Given the description of an element on the screen output the (x, y) to click on. 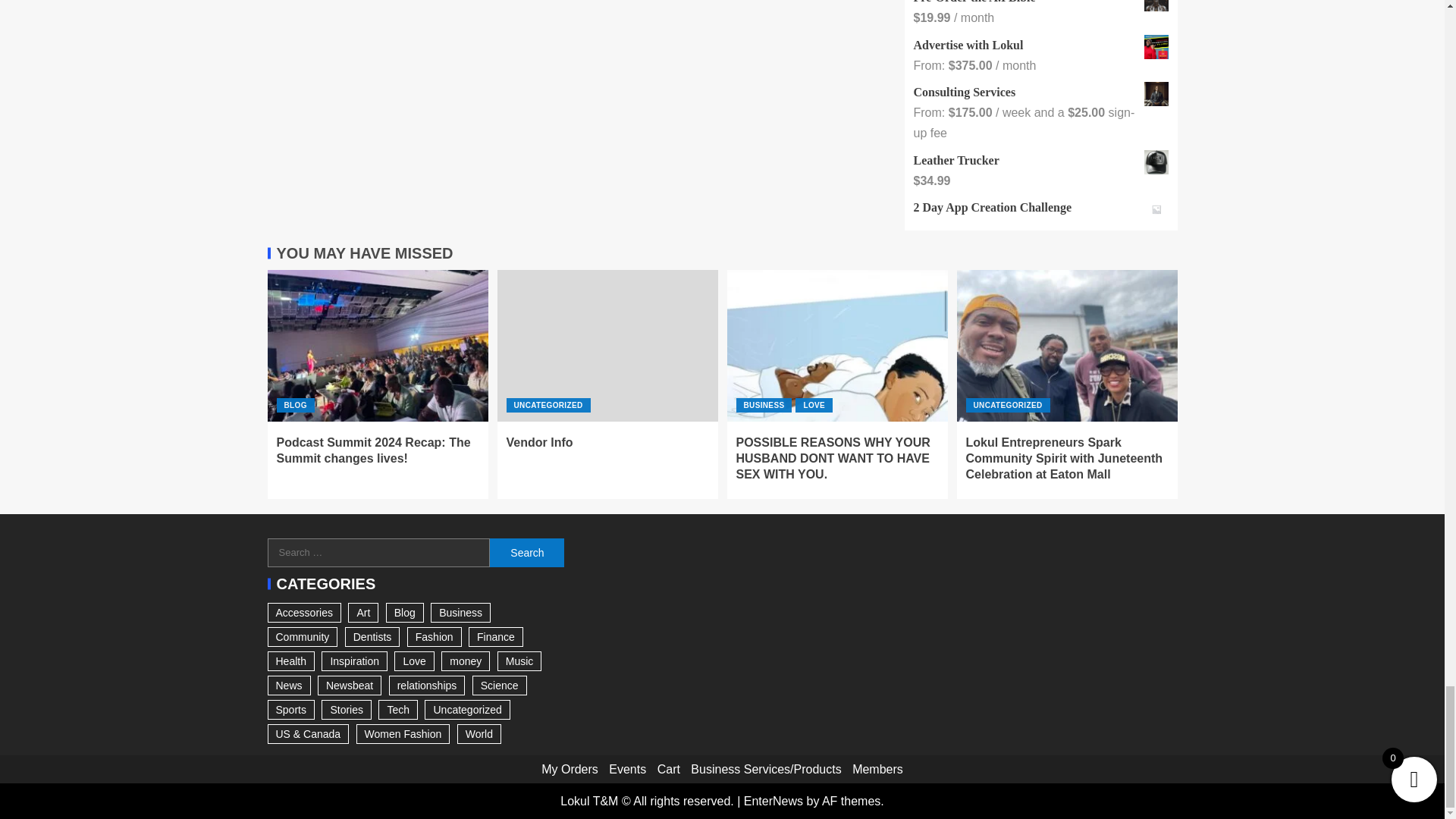
Search (526, 552)
Search (526, 552)
